Given the description of an element on the screen output the (x, y) to click on. 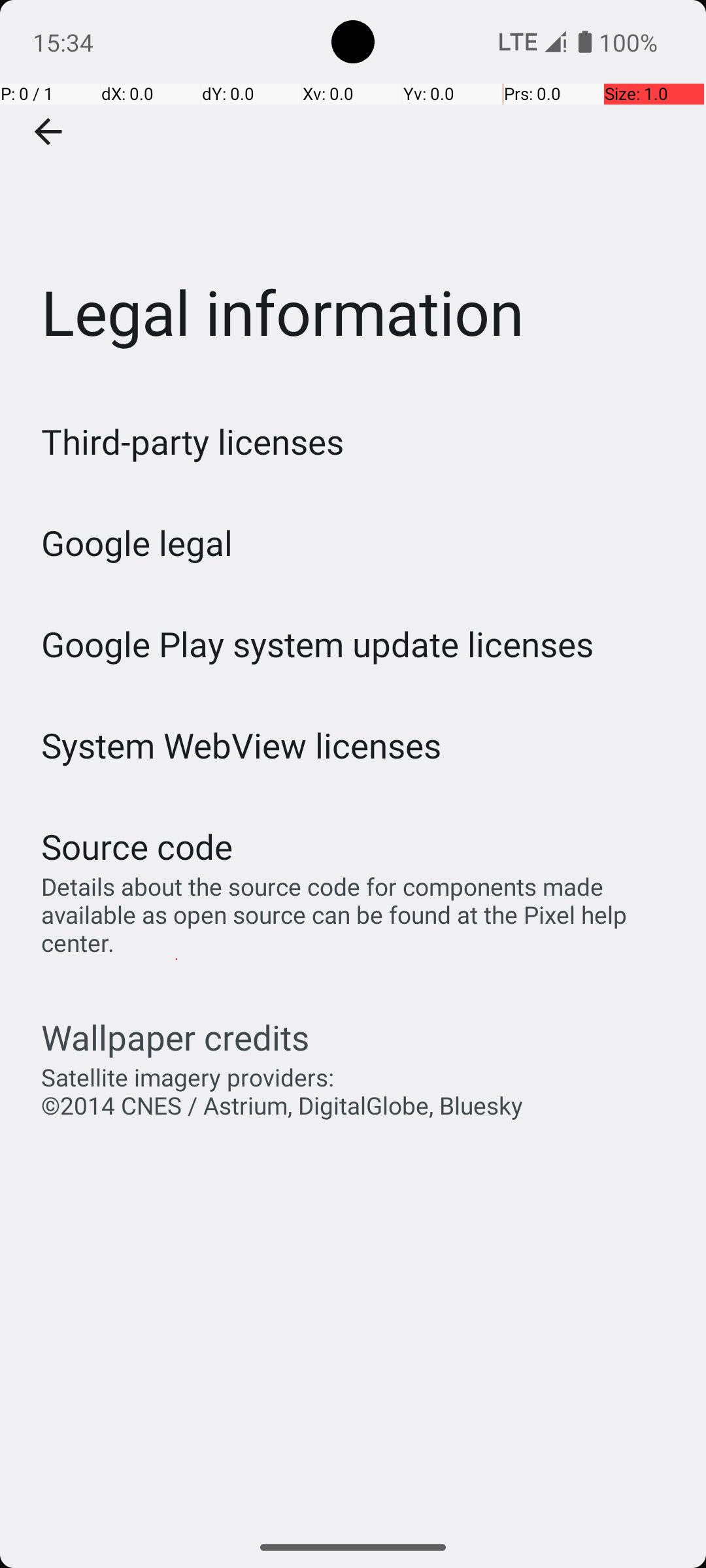
Legal information Element type: android.widget.FrameLayout (353, 195)
Third-party licenses Element type: android.widget.TextView (192, 441)
Google legal Element type: android.widget.TextView (136, 542)
Google Play system update licenses Element type: android.widget.TextView (317, 643)
System WebView licenses Element type: android.widget.TextView (241, 744)
Source code Element type: android.widget.TextView (136, 846)
Details about the source code for components made available as open source can be found at the Pixel help center. Element type: android.widget.TextView (359, 914)
Wallpaper credits Element type: android.widget.TextView (175, 1036)
Satellite imagery providers:
©2014 CNES / Astrium, DigitalGlobe, Bluesky Element type: android.widget.TextView (281, 1090)
